Given the description of an element on the screen output the (x, y) to click on. 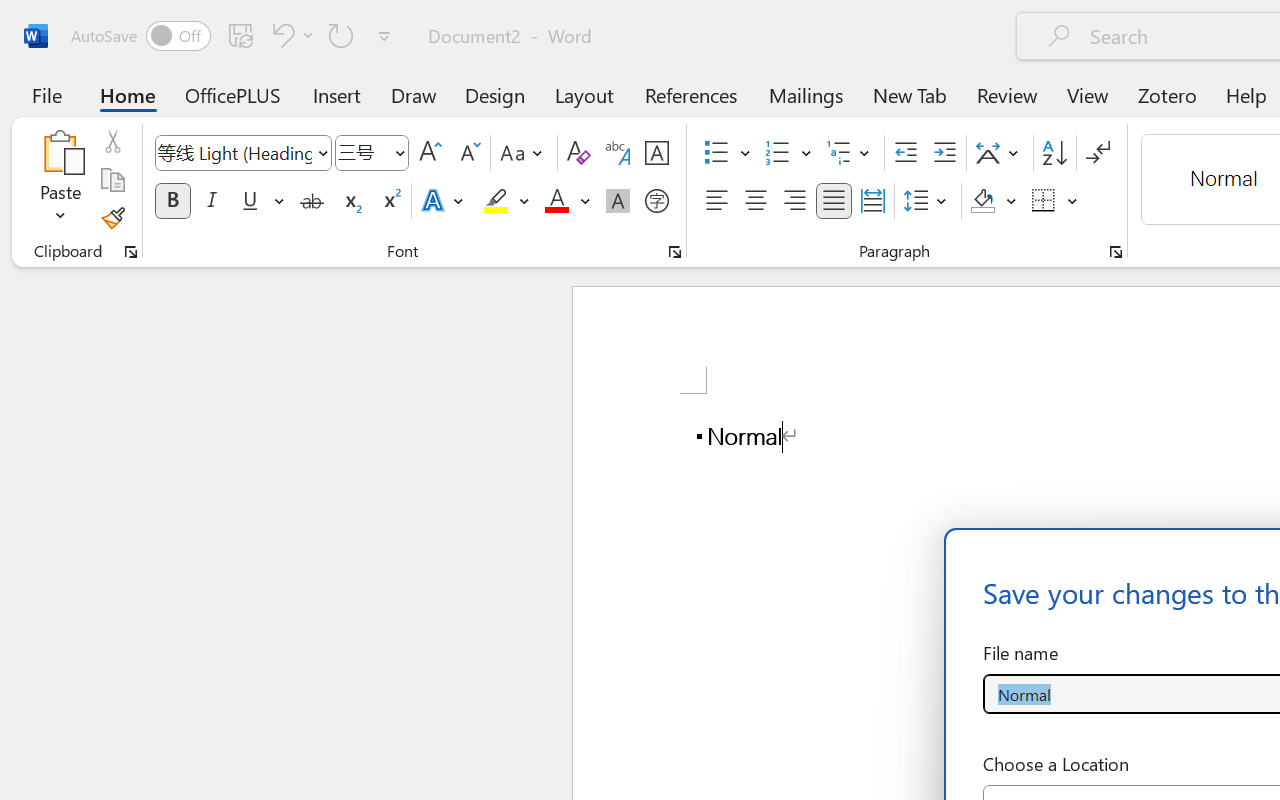
Paste (60, 179)
Numbering (778, 153)
Undo Typing (280, 35)
New Tab (909, 94)
Grow Font (430, 153)
Zotero (1166, 94)
More Options (1073, 201)
Office Clipboard... (131, 252)
References (690, 94)
Mailings (806, 94)
Asian Layout (1000, 153)
Undo Typing (290, 35)
Bullets (727, 153)
